Given the description of an element on the screen output the (x, y) to click on. 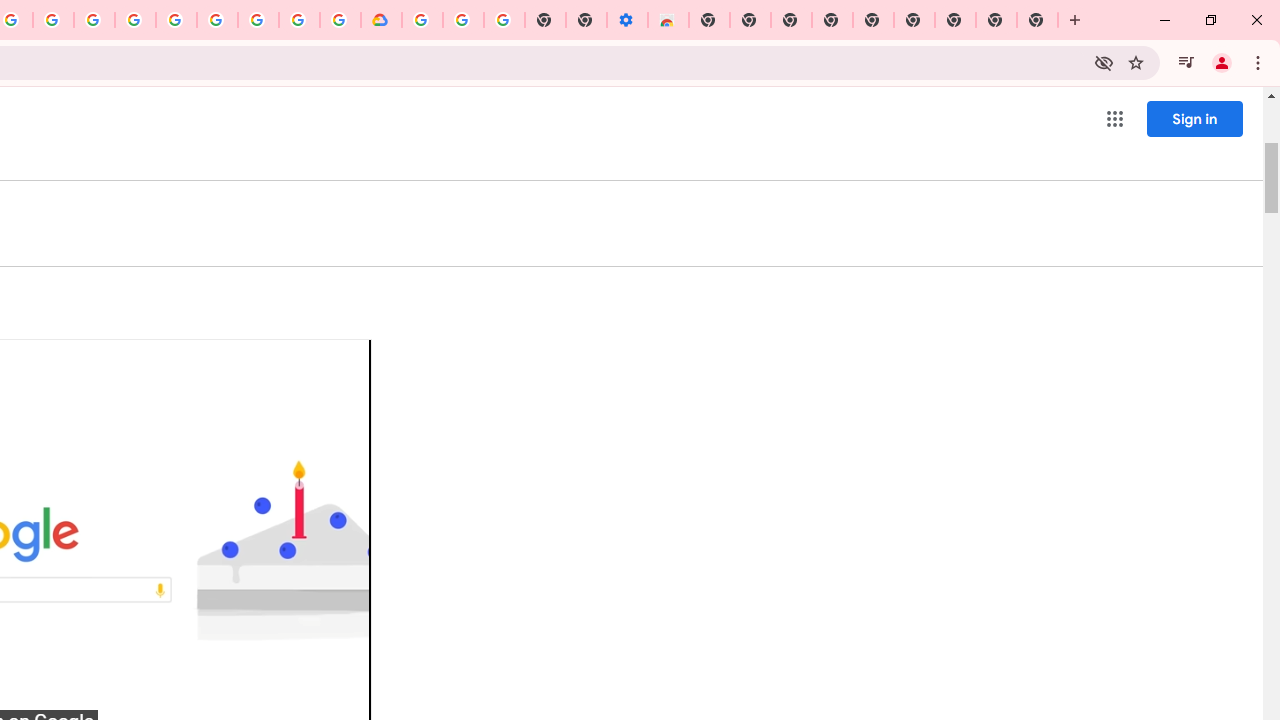
Browse the Google Chrome Community - Google Chrome Community (340, 20)
Google Account Help (217, 20)
Google Account Help (462, 20)
New Tab (708, 20)
Settings - Accessibility (626, 20)
Sign in - Google Accounts (176, 20)
